Given the description of an element on the screen output the (x, y) to click on. 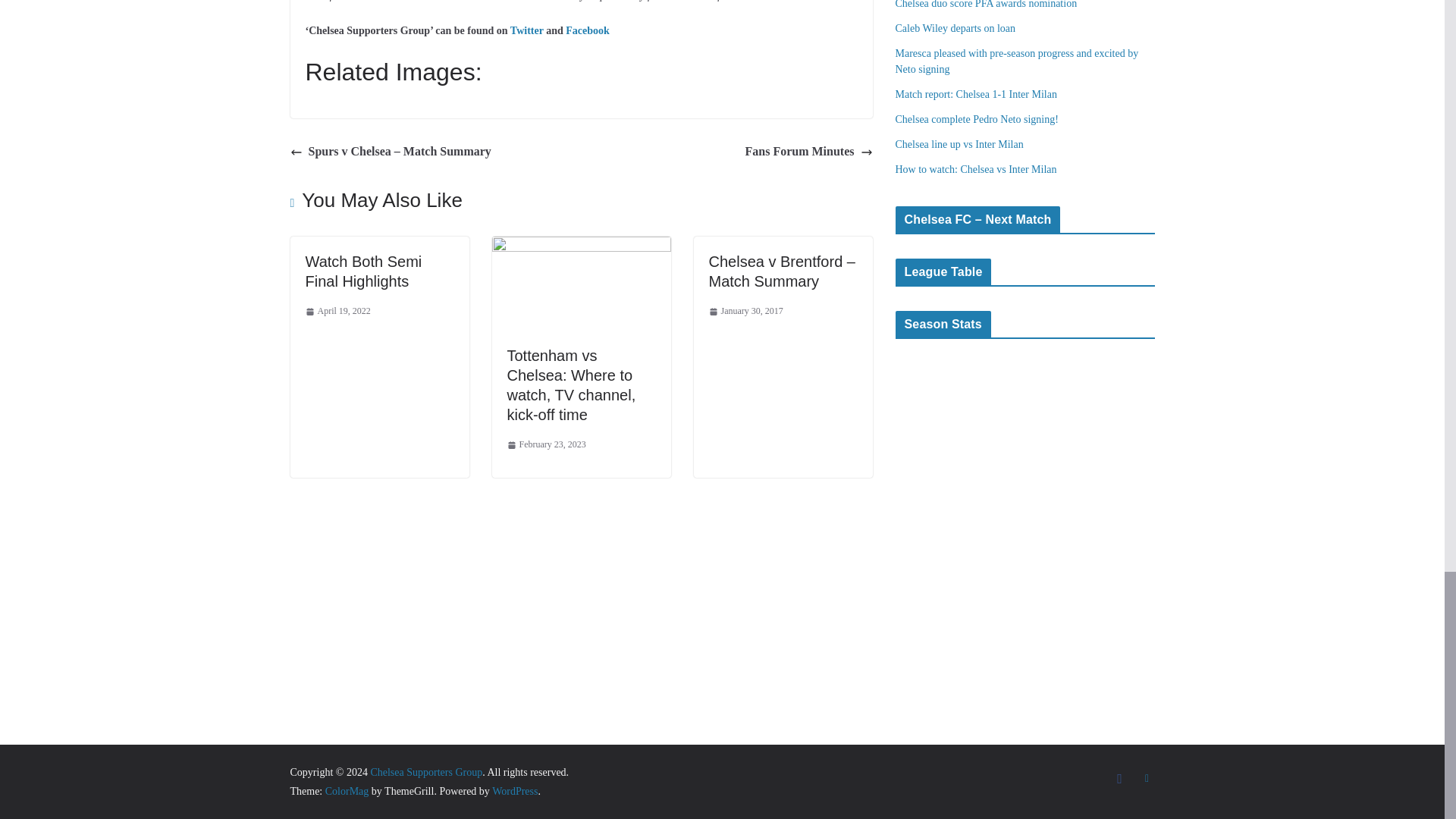
Facebook (588, 30)
8:31 am (545, 444)
Watch Both Semi Final Highlights (363, 271)
9:55 am (336, 311)
Twitter (527, 30)
April 19, 2022 (336, 311)
Watch Both Semi Final Highlights (363, 271)
Fans Forum Minutes (808, 151)
